Given the description of an element on the screen output the (x, y) to click on. 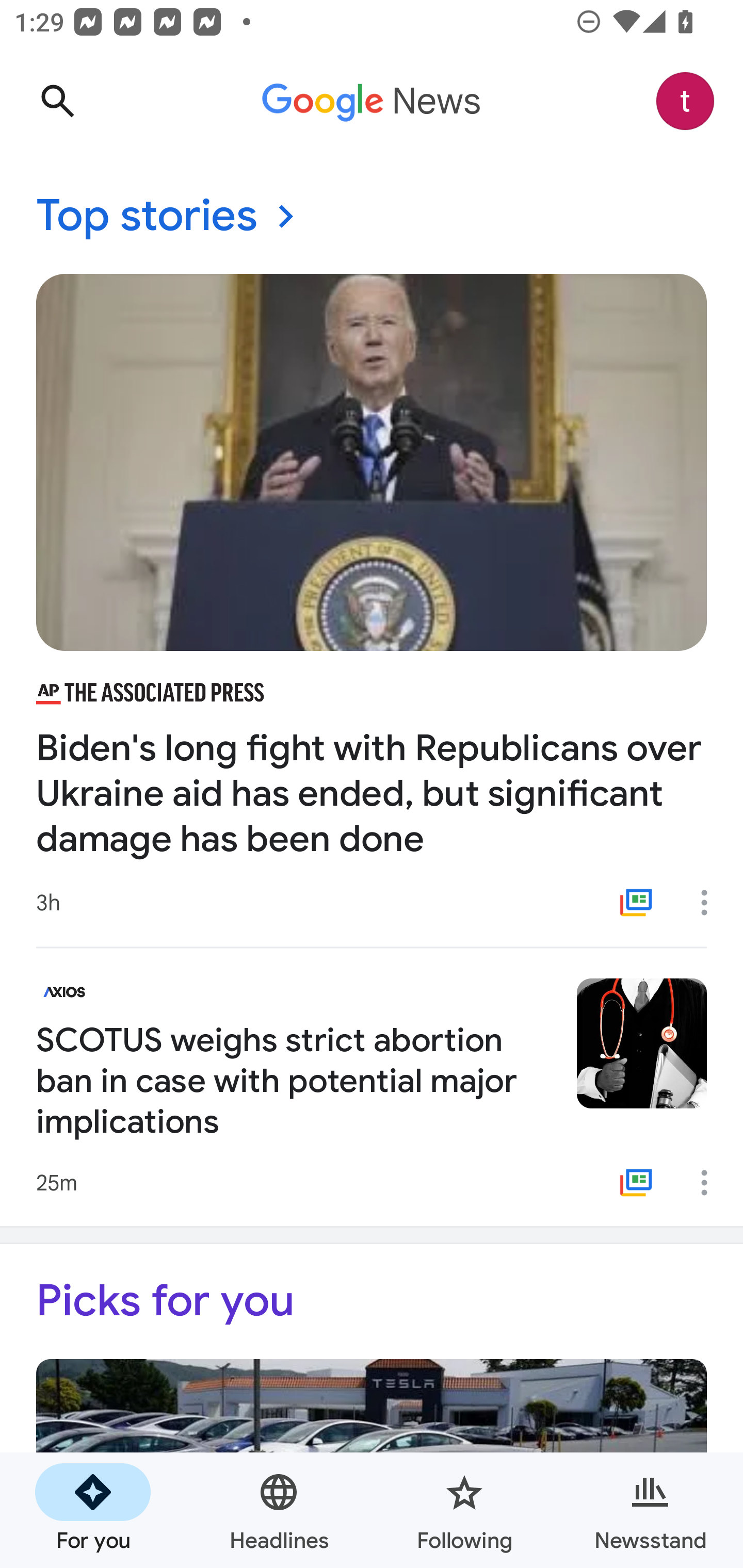
Search (57, 100)
Top stories (371, 216)
More options (711, 902)
More options (711, 1182)
For you (92, 1509)
Headlines (278, 1509)
Following (464, 1509)
Newsstand (650, 1509)
